Given the description of an element on the screen output the (x, y) to click on. 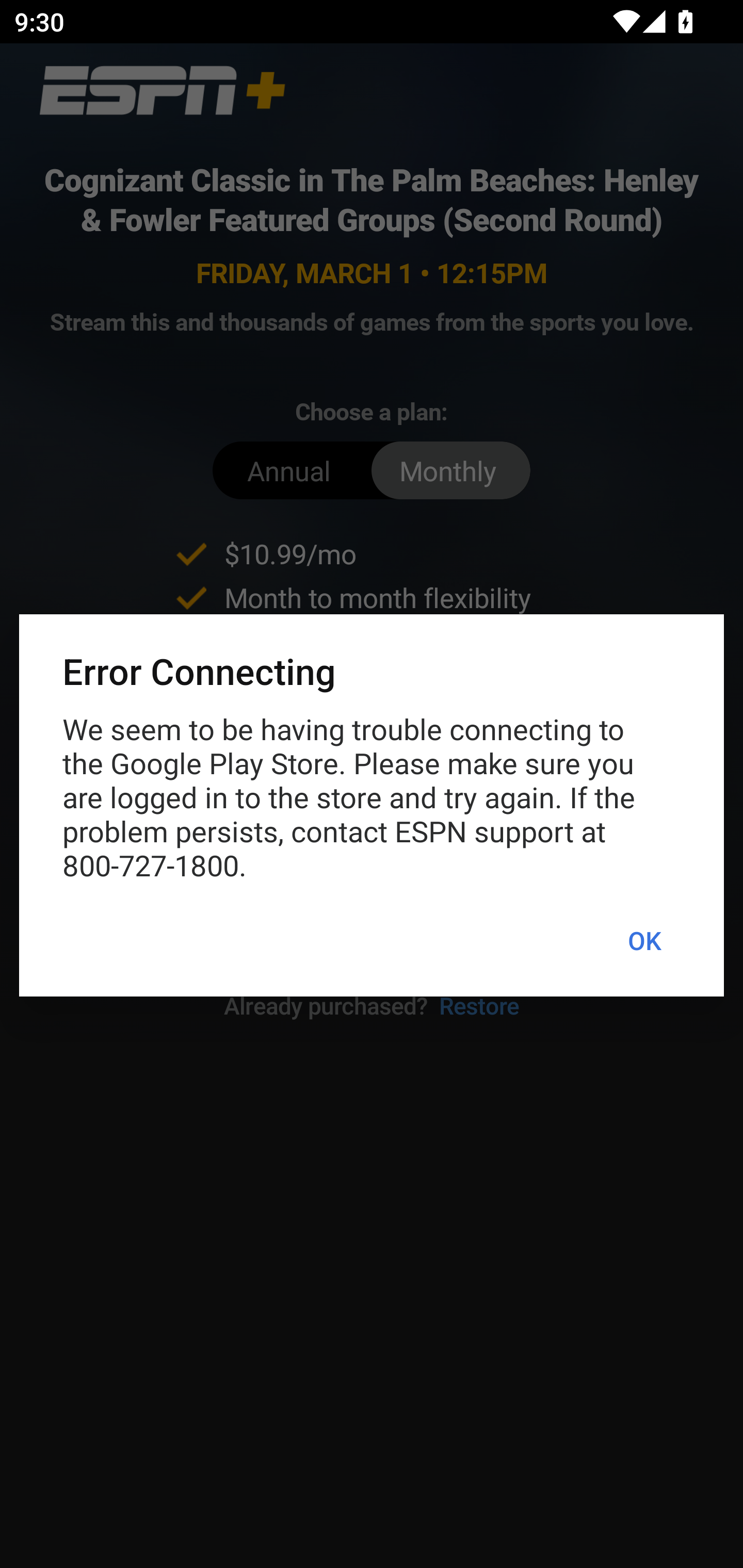
OK (644, 940)
